Given the description of an element on the screen output the (x, y) to click on. 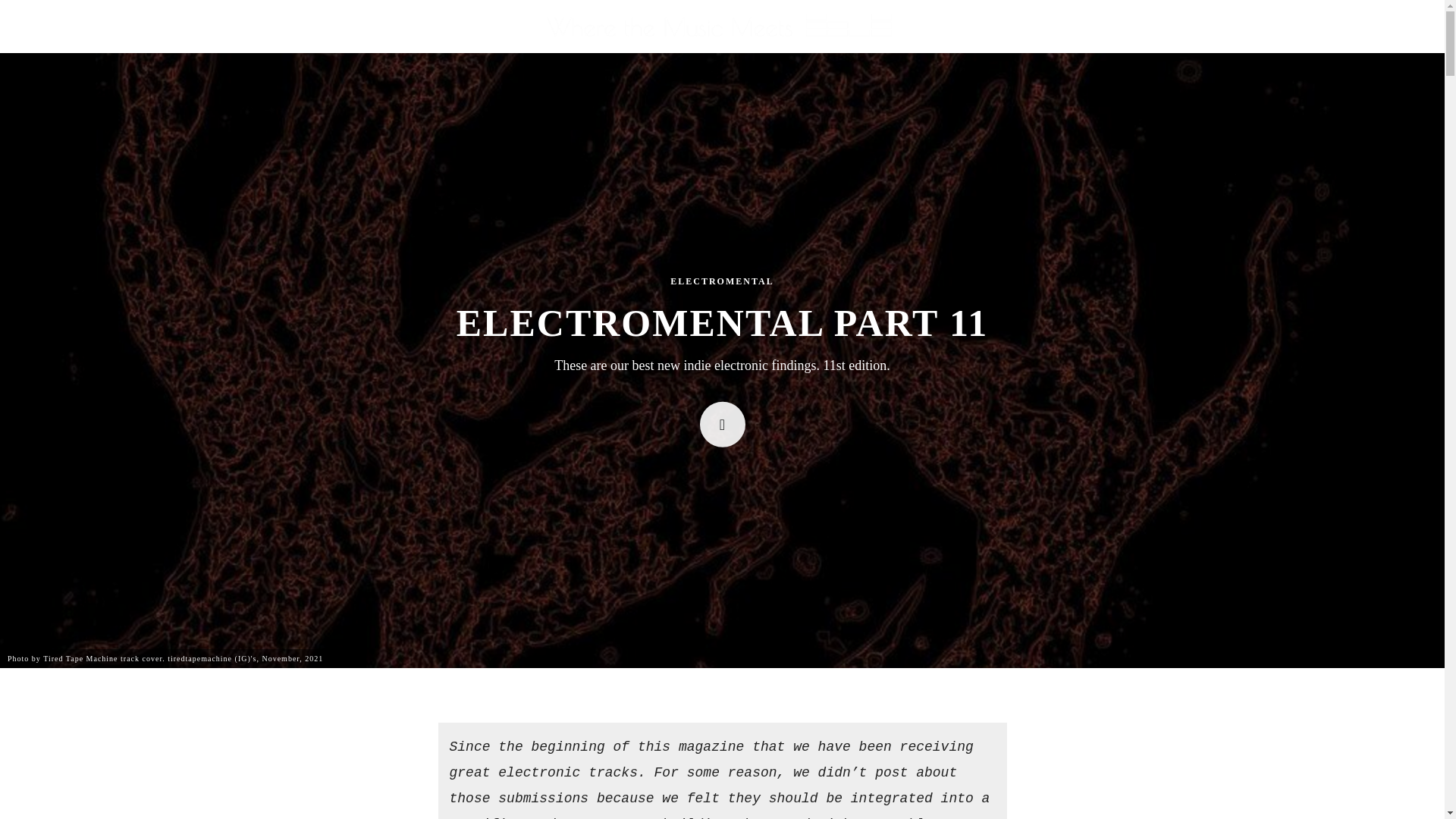
ELECTROMENTAL (721, 280)
View all posts in electromental (721, 280)
